Given the description of an element on the screen output the (x, y) to click on. 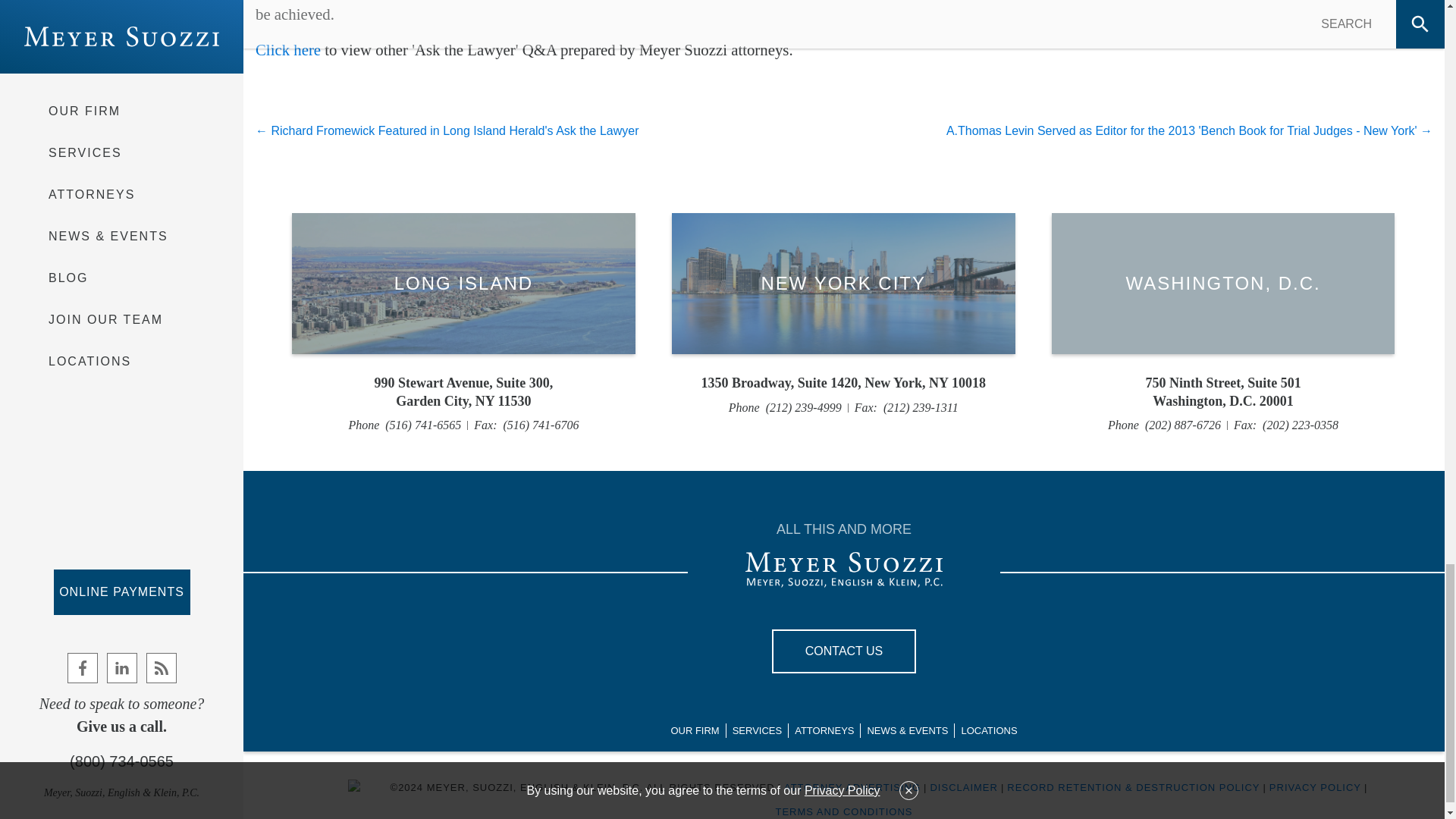
1350 Broadway, Suite 1420, New York, NY 10018 (842, 383)
NEW YORK CITY (842, 282)
ATTORNEYS (824, 730)
CONTACT US (463, 392)
SERVICES (843, 651)
Click here (757, 730)
OUR FIRM (288, 49)
LONG ISLAND (1222, 392)
